Given the description of an element on the screen output the (x, y) to click on. 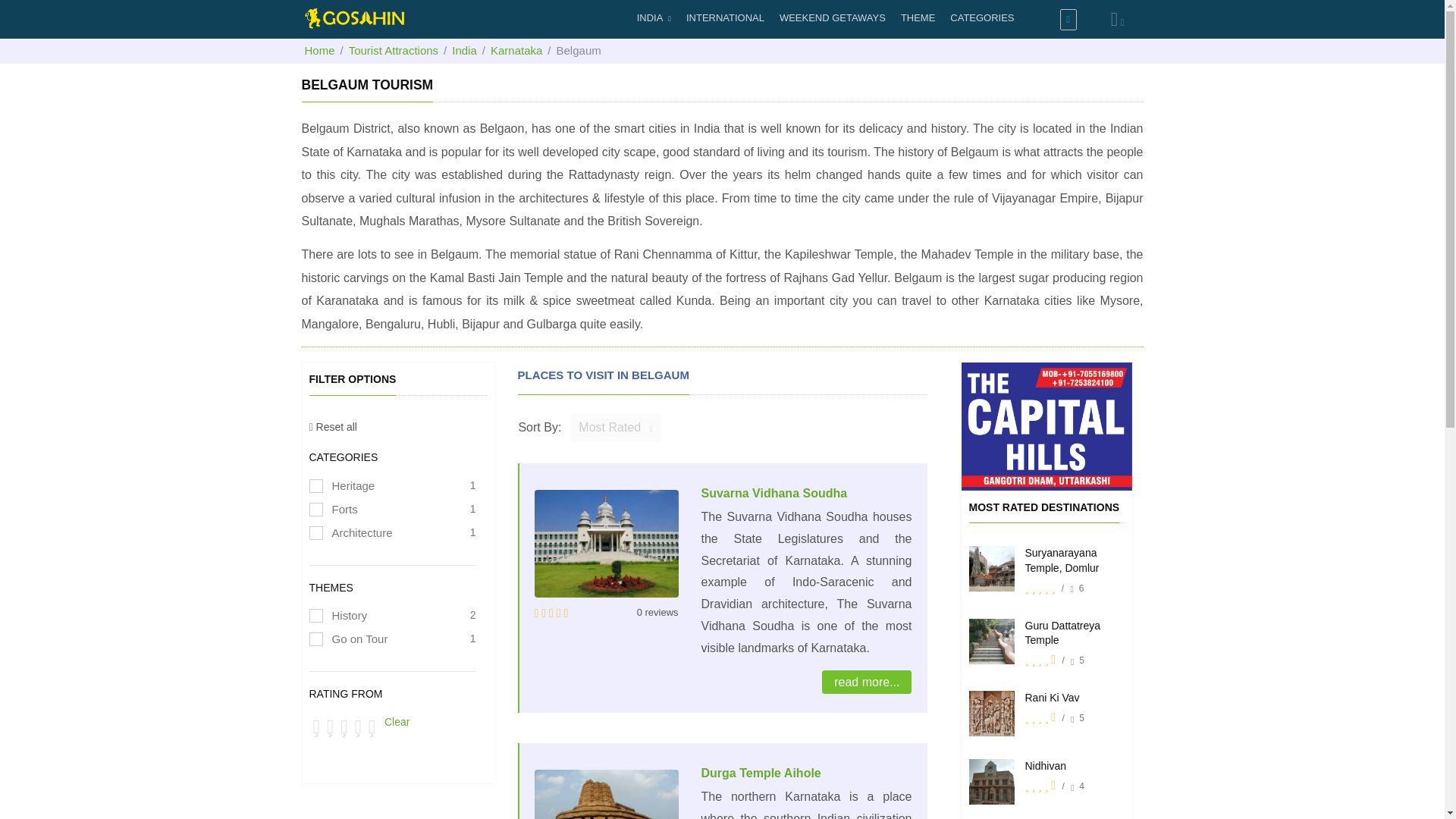
CATEGORIES (981, 17)
THEME (917, 17)
read more... (866, 682)
Most Rated (615, 427)
Tourist Attractions (393, 50)
Reset all (332, 426)
WEEKEND GETAWAYS (831, 17)
INDIA (654, 17)
Suvarna Vidhana Soudha (773, 492)
Clear (396, 721)
Home (319, 50)
Durga Temple Aihole (760, 772)
Karnataka (515, 50)
INTERNATIONAL (724, 17)
India (464, 50)
